Given the description of an element on the screen output the (x, y) to click on. 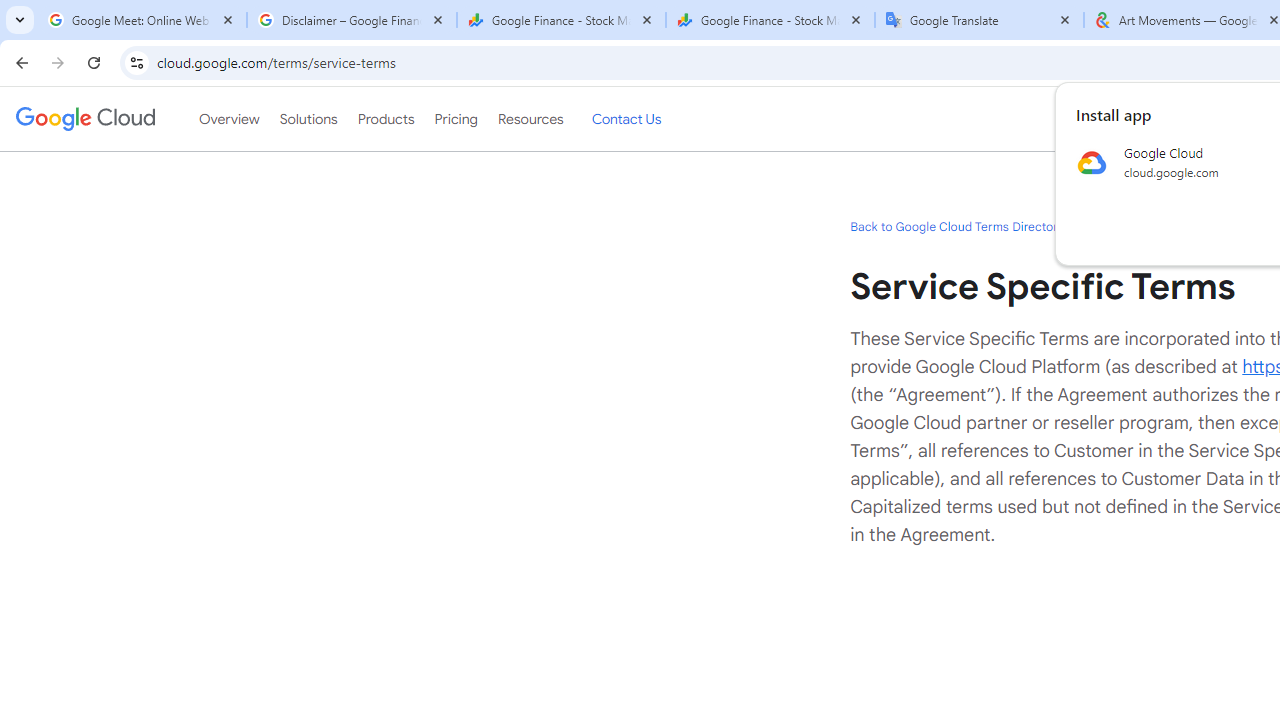
Resources (530, 119)
Back to Google Cloud Terms Directory (956, 226)
Solutions (308, 119)
Google Translate (979, 20)
Pricing (455, 119)
